Given the description of an element on the screen output the (x, y) to click on. 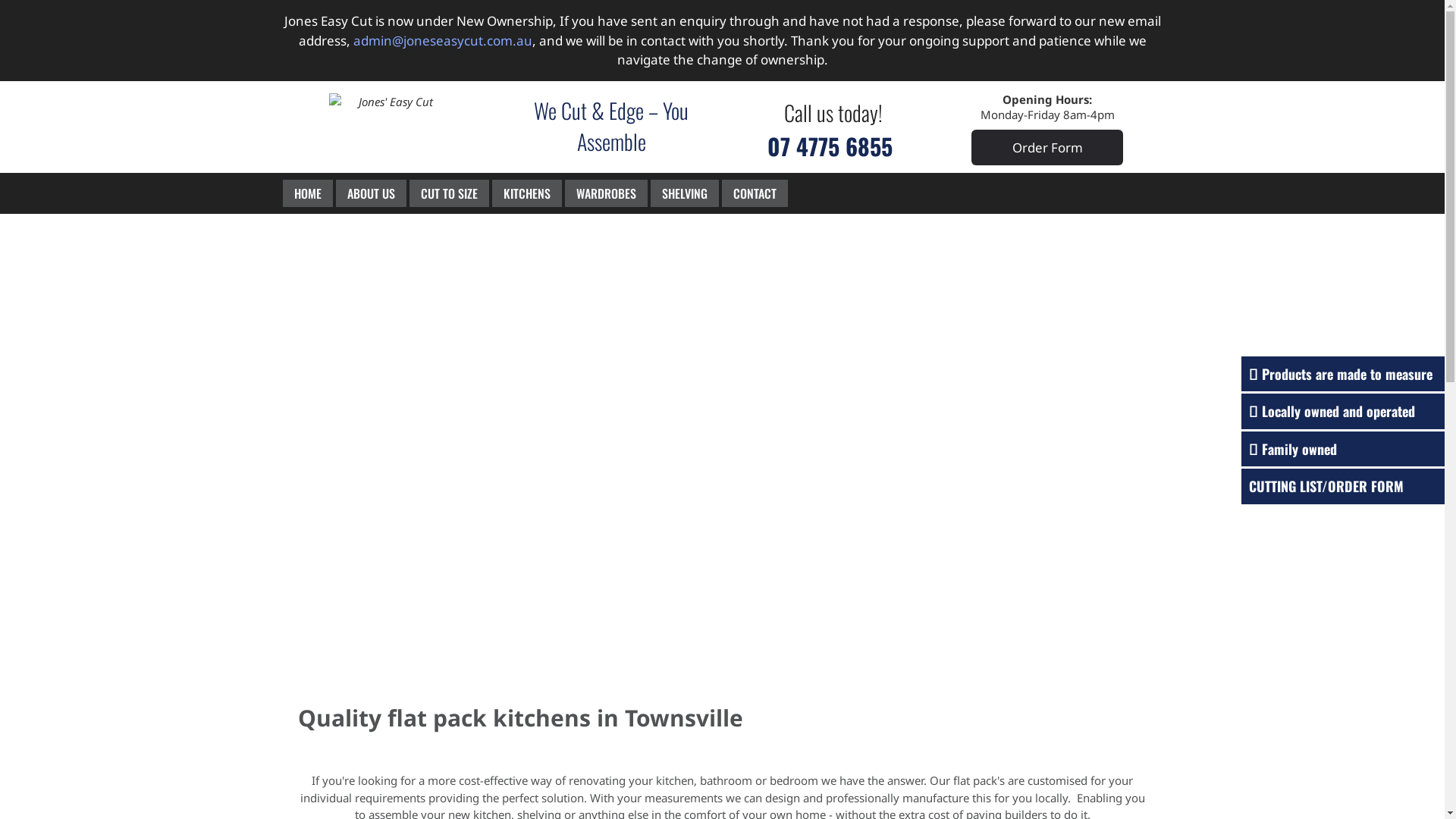
admin@joneseasycut.com.au Element type: text (442, 40)
CUTTING LIST/ORDER FORM Element type: text (1325, 485)
ABOUT US Element type: text (371, 192)
CONTACT Element type: text (753, 192)
SHELVING Element type: text (683, 192)
WARDROBES Element type: text (606, 192)
CUT TO SIZE Element type: text (448, 192)
Order Form Element type: text (1047, 146)
HOME Element type: text (307, 192)
07 4775 6855  Element type: text (832, 147)
KITCHENS Element type: text (526, 192)
